Given the description of an element on the screen output the (x, y) to click on. 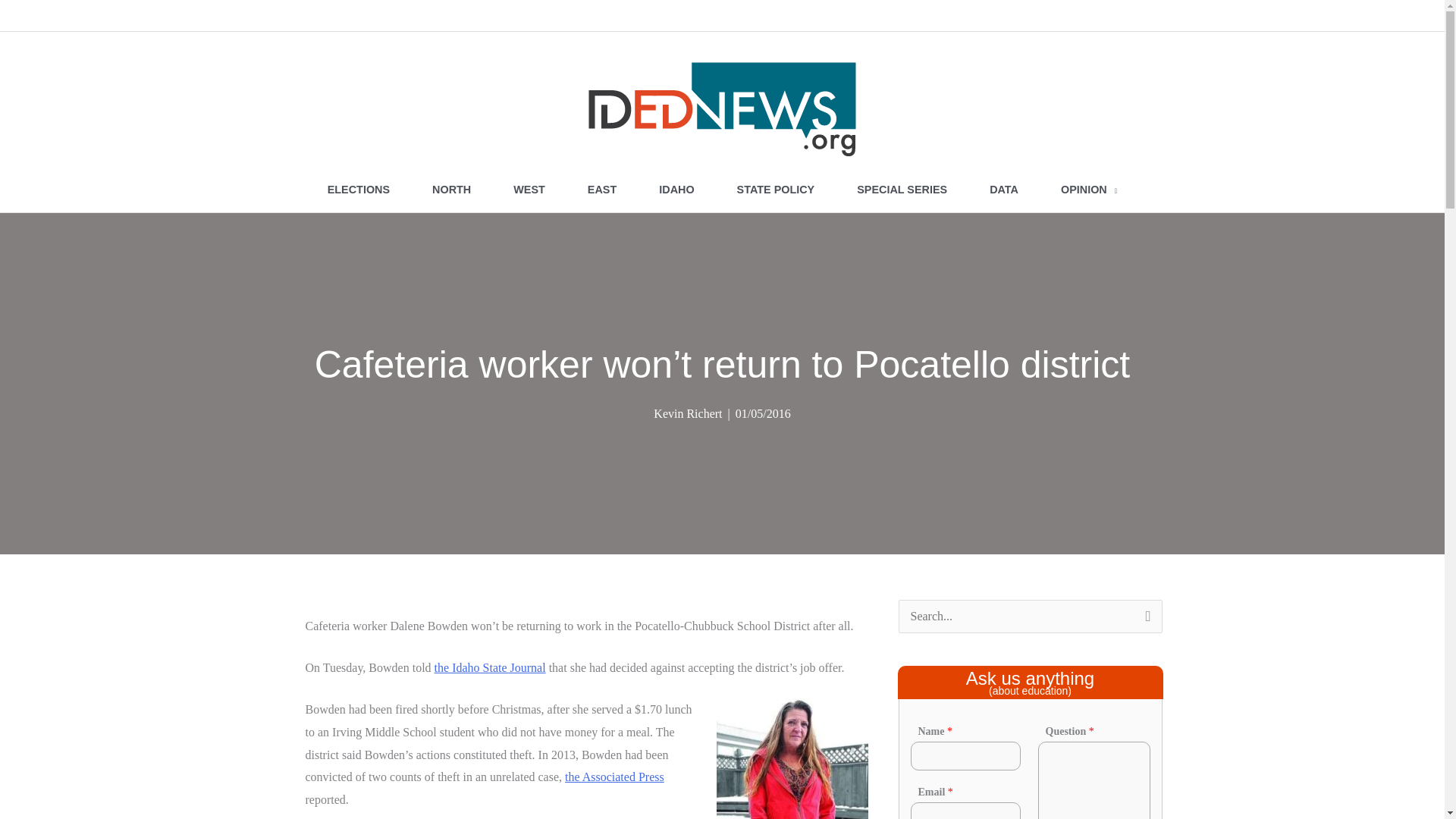
OPINION (1088, 190)
ELECTIONS (357, 190)
NORTH (451, 190)
EAST (601, 190)
SPECIAL SERIES (901, 190)
WEST (529, 190)
STATE POLICY (775, 190)
the Idaho State Journal (489, 667)
Search (1144, 620)
the Associated Press (613, 776)
DATA (1003, 190)
Search (1144, 620)
Search (1144, 620)
Kevin Richert (687, 413)
IDAHO (675, 190)
